Given the description of an element on the screen output the (x, y) to click on. 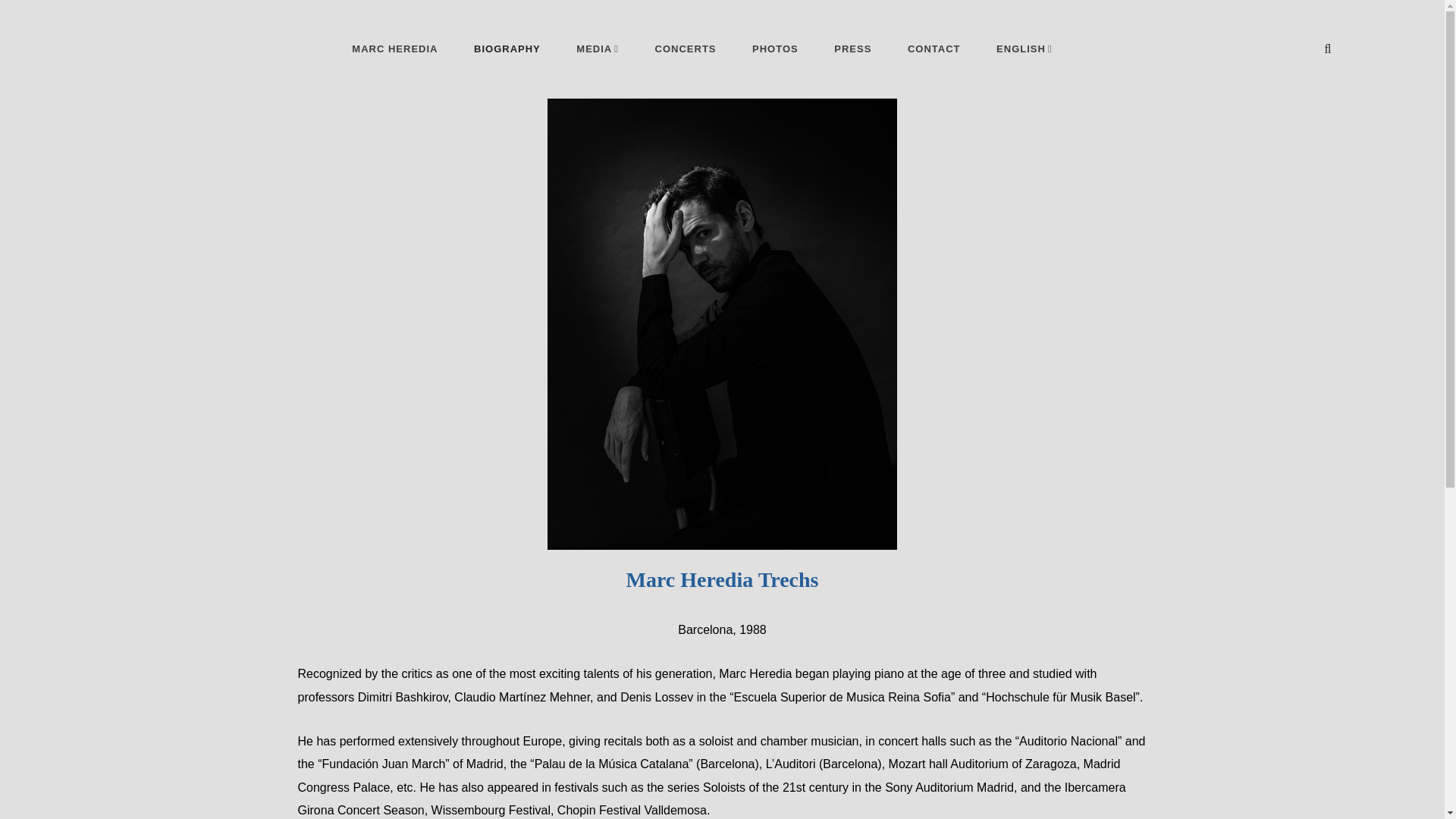
BIOGRAPHY (507, 49)
ENGLISH (1023, 49)
MARC HEREDIA (178, 62)
MEDIA (597, 49)
MARC HEREDIA (394, 49)
CONTACT (933, 49)
CONCERTS (685, 49)
PRESS (852, 49)
PHOTOS (774, 49)
